Given the description of an element on the screen output the (x, y) to click on. 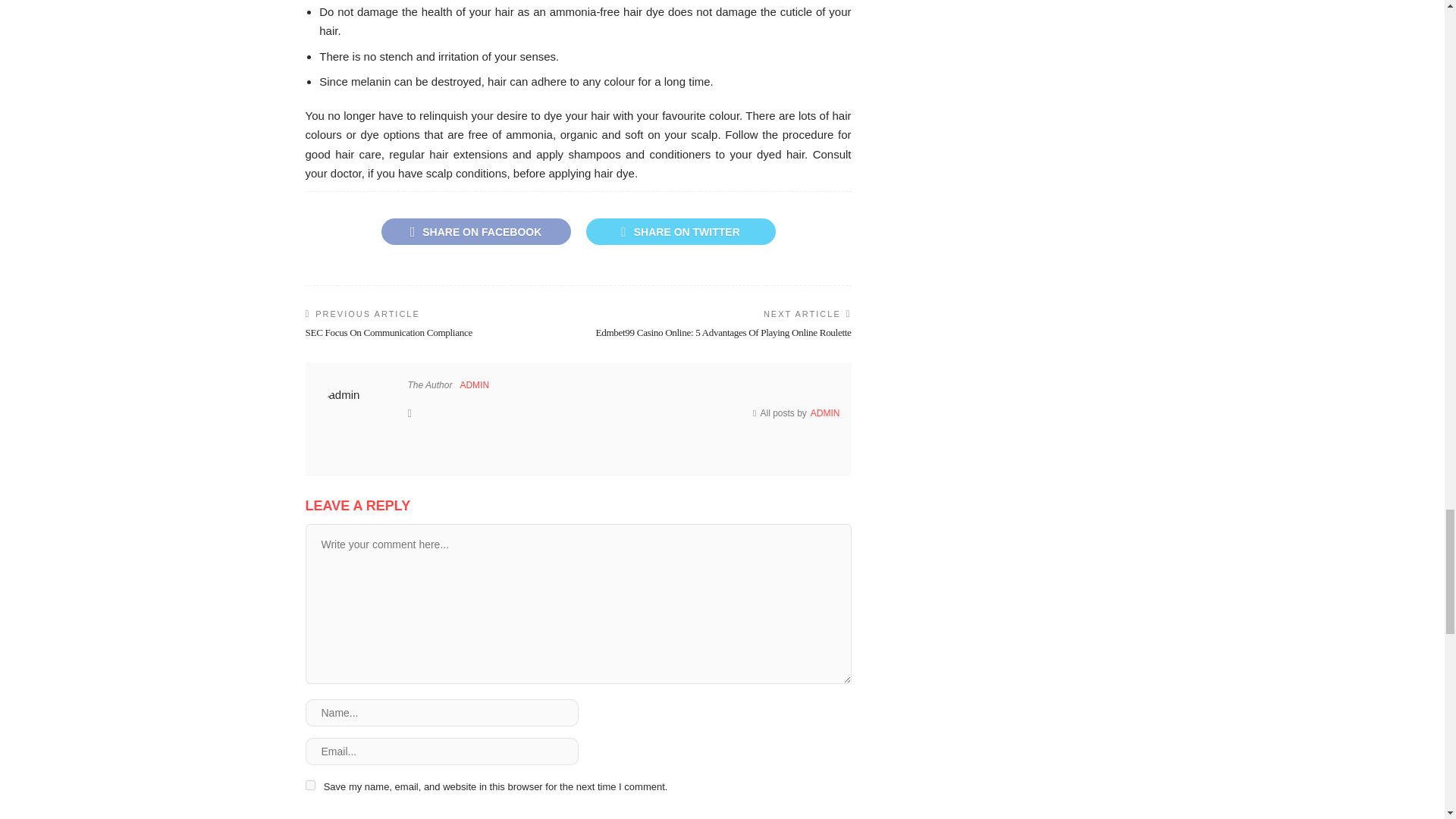
yes (309, 785)
SEC Focus On Communication Compliance (387, 332)
